Given the description of an element on the screen output the (x, y) to click on. 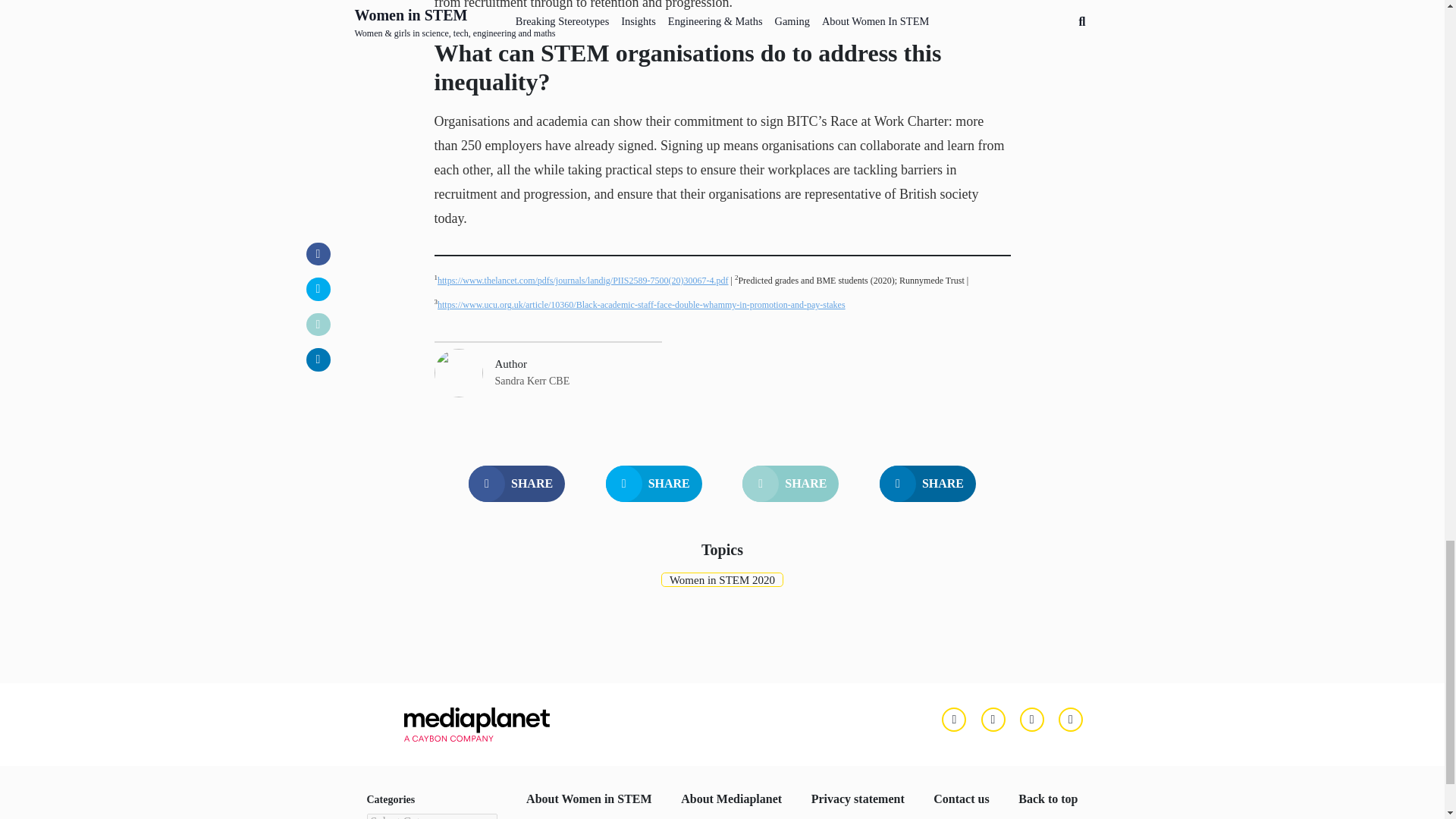
Back to top (1047, 799)
Contact us (960, 799)
Women in STEM 2020 (722, 580)
Privacy statement (857, 799)
SHARE (927, 484)
About Mediaplanet (731, 799)
SHARE (653, 484)
About Women in STEM (588, 799)
SHARE (516, 484)
SHARE (790, 484)
